Given the description of an element on the screen output the (x, y) to click on. 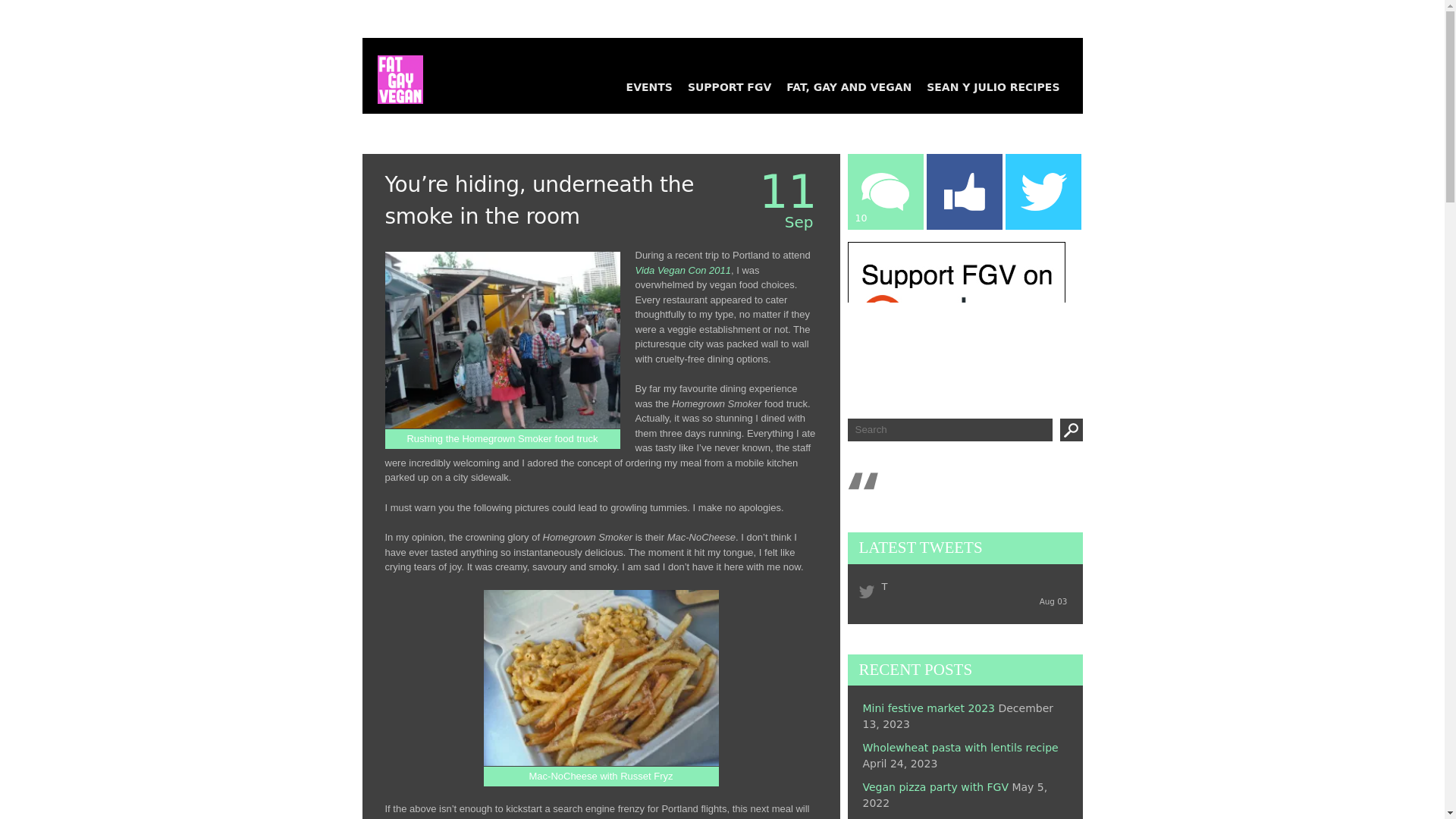
Fat Gay Vegan (392, 70)
11:23 PM Aug 03 GMT 0 (1053, 601)
FAT, GAY AND VEGAN (848, 86)
Vida Vegan Con (683, 269)
EVENTS (648, 86)
SUPPORT FGV (728, 86)
fries and mac (601, 677)
line (502, 339)
SEAN Y JULIO RECIPES (992, 86)
Vida Vegan Con 2011 (683, 269)
